Given the description of an element on the screen output the (x, y) to click on. 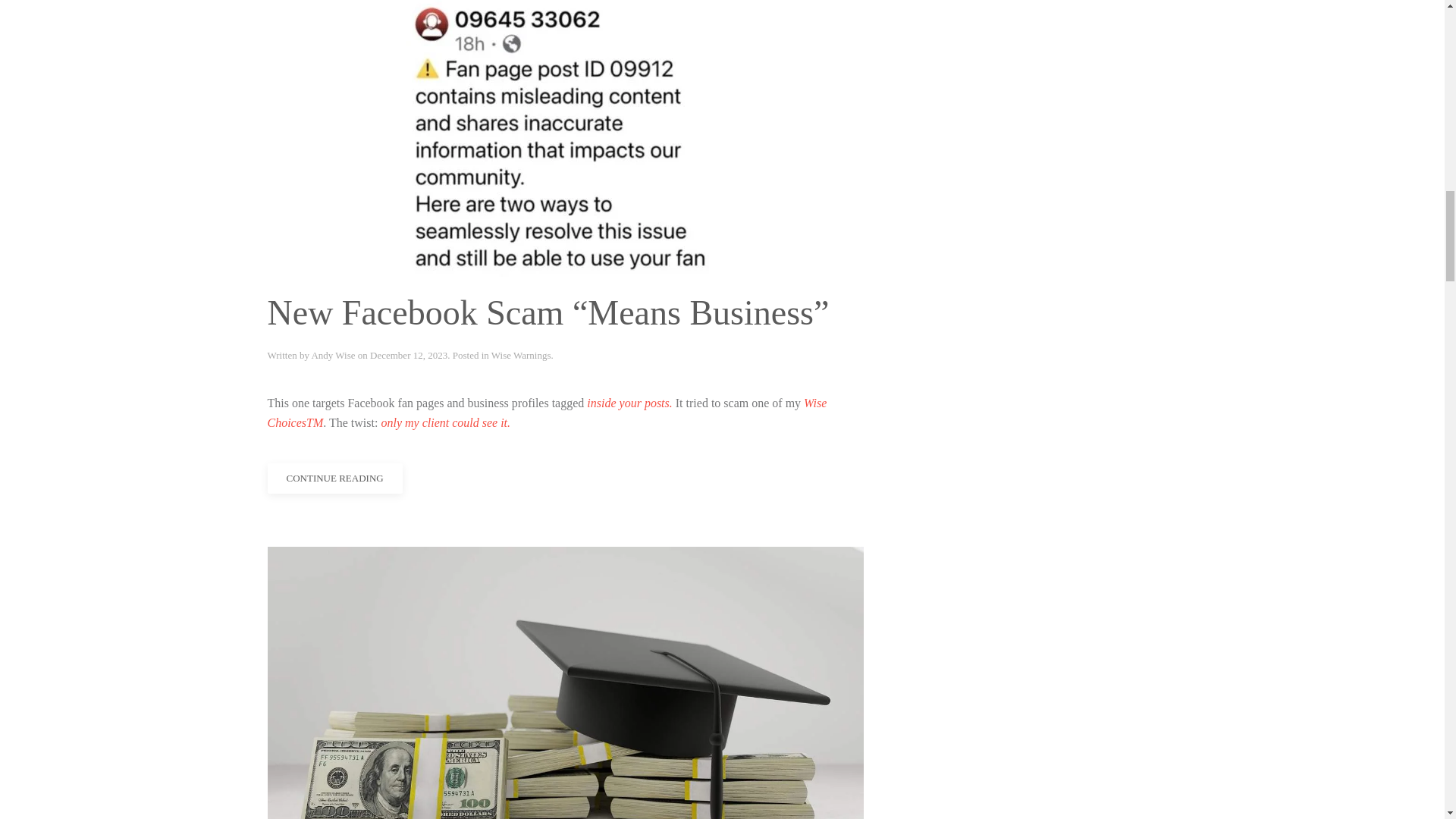
Andy Wise (333, 355)
CONTINUE READING (333, 478)
Wise Warnings (521, 355)
